Given the description of an element on the screen output the (x, y) to click on. 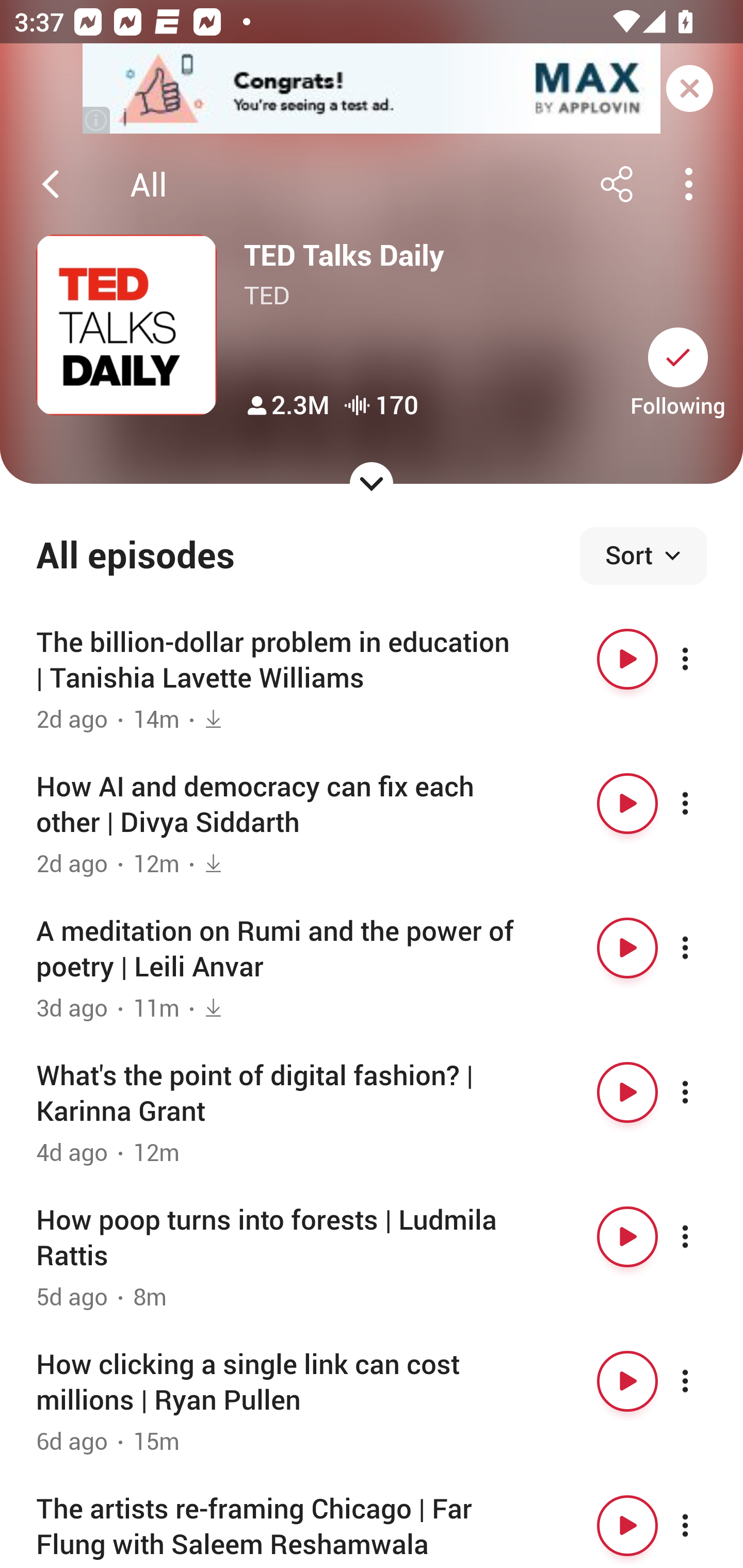
app-monetization (371, 88)
(i) (96, 119)
Back (50, 184)
Unsubscribe button (677, 357)
Sort episodes Sort (643, 555)
Play button (627, 659)
More options (703, 659)
Play button (627, 803)
More options (703, 803)
Play button (627, 947)
More options (703, 947)
Play button (627, 1092)
More options (703, 1092)
Play button (627, 1236)
More options (703, 1236)
Play button (627, 1381)
More options (703, 1381)
Play button (627, 1525)
More options (703, 1525)
